Given the description of an element on the screen output the (x, y) to click on. 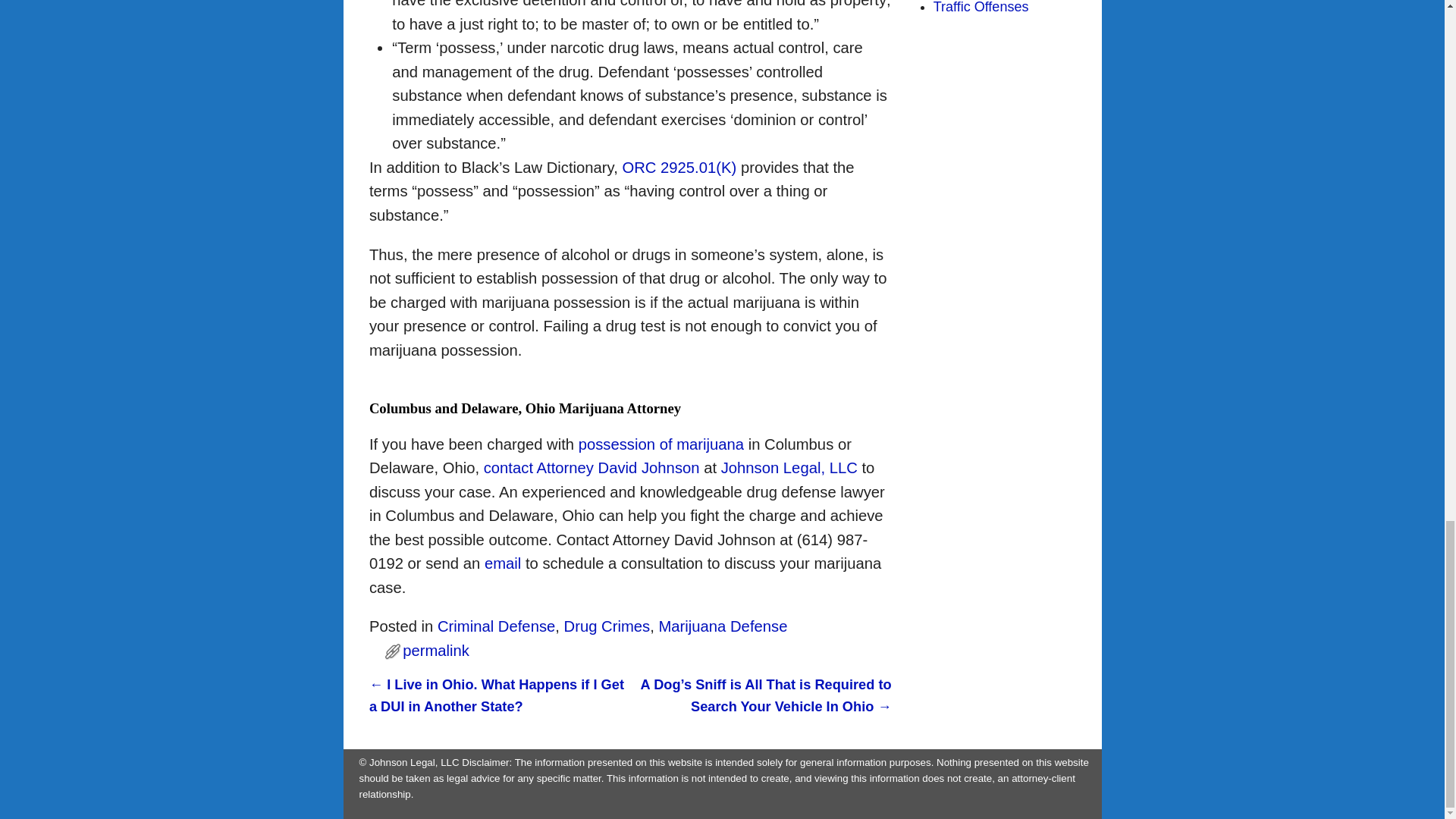
Contact (502, 563)
